Given the description of an element on the screen output the (x, y) to click on. 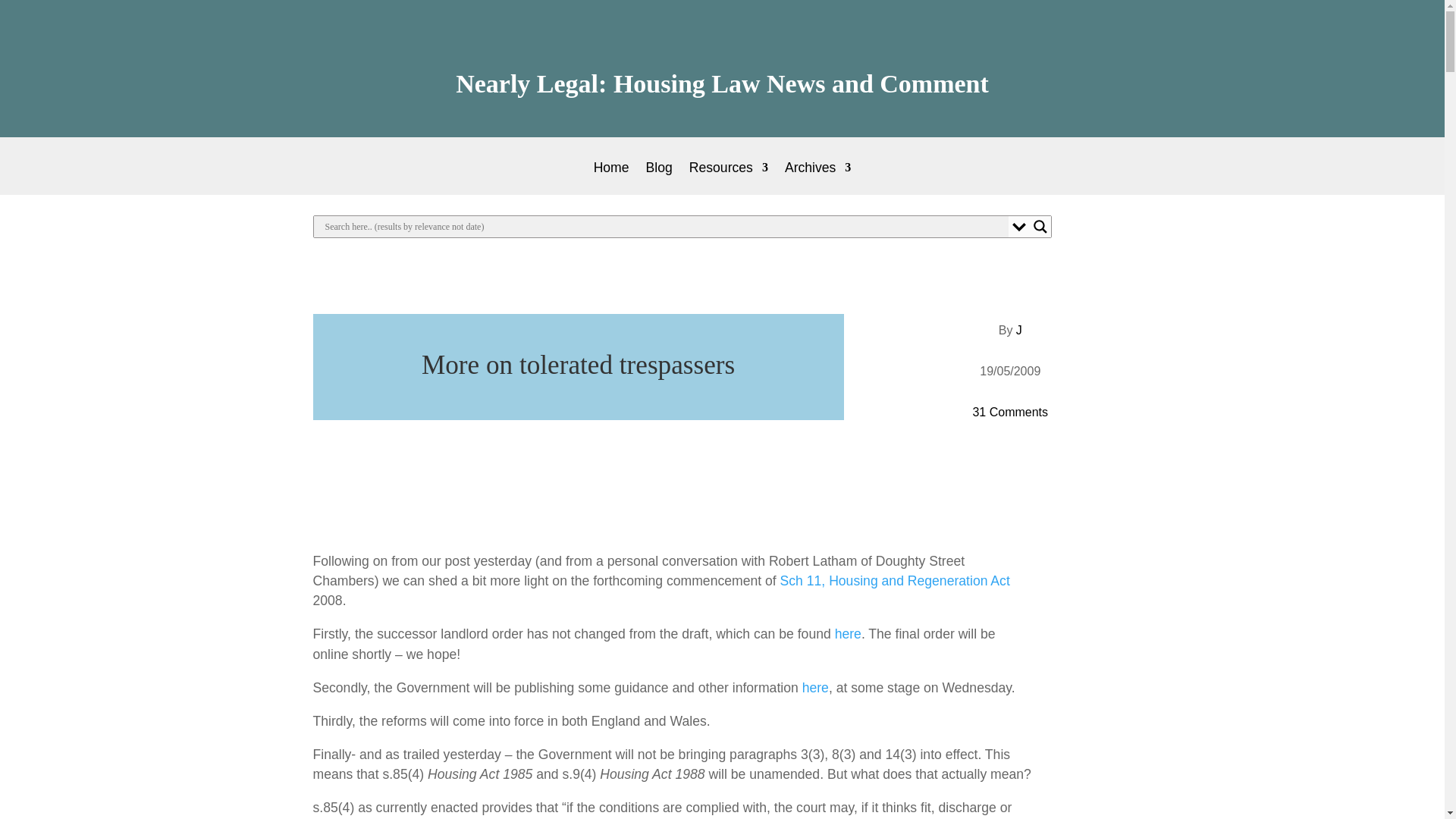
Home (611, 178)
Resources (728, 178)
Archives (817, 178)
